Given the description of an element on the screen output the (x, y) to click on. 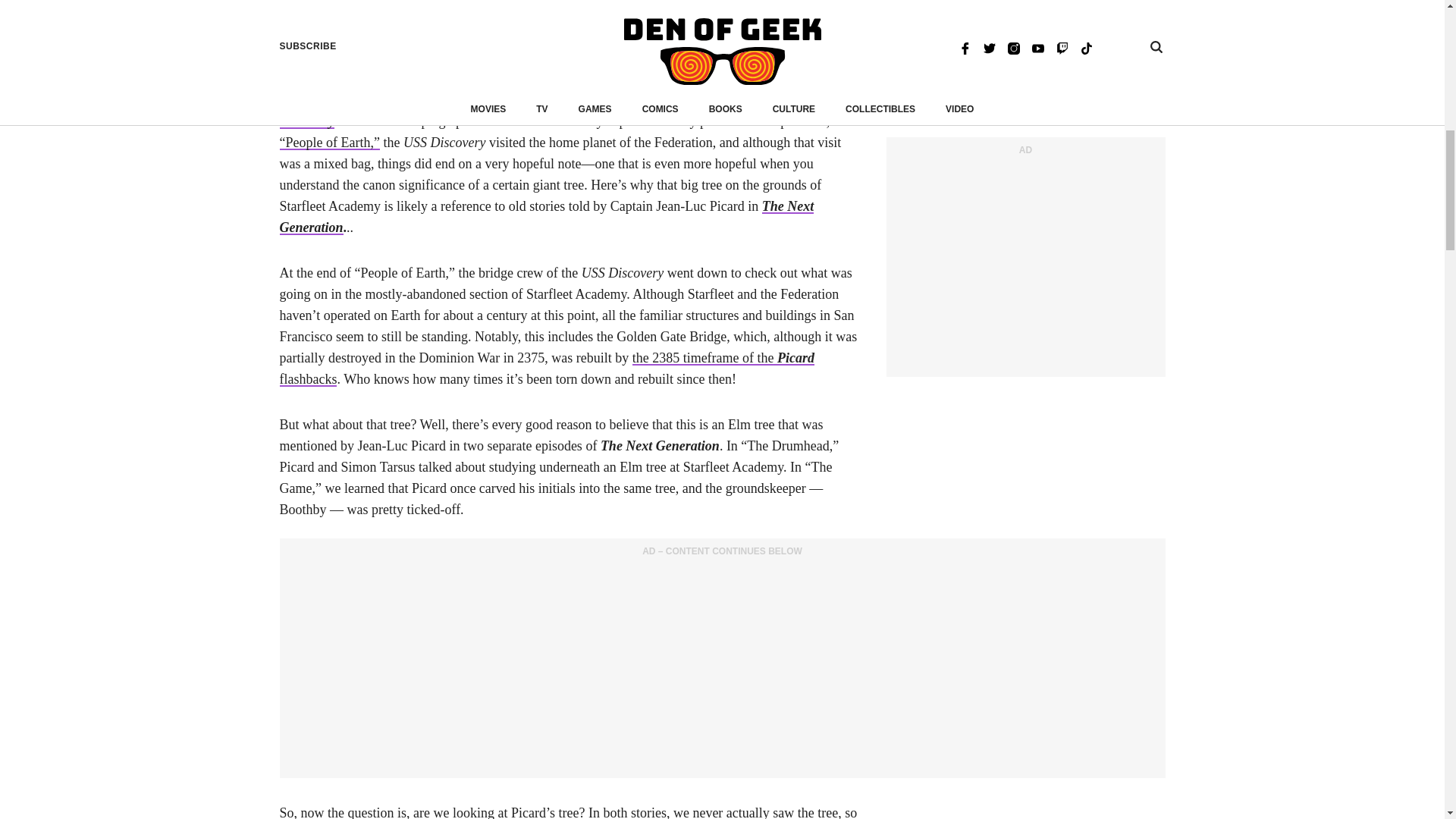
Star Trek: Discovery (560, 110)
the 2385 timeframe of the Picard flashbacks (546, 368)
The Next Generation (546, 217)
